Given the description of an element on the screen output the (x, y) to click on. 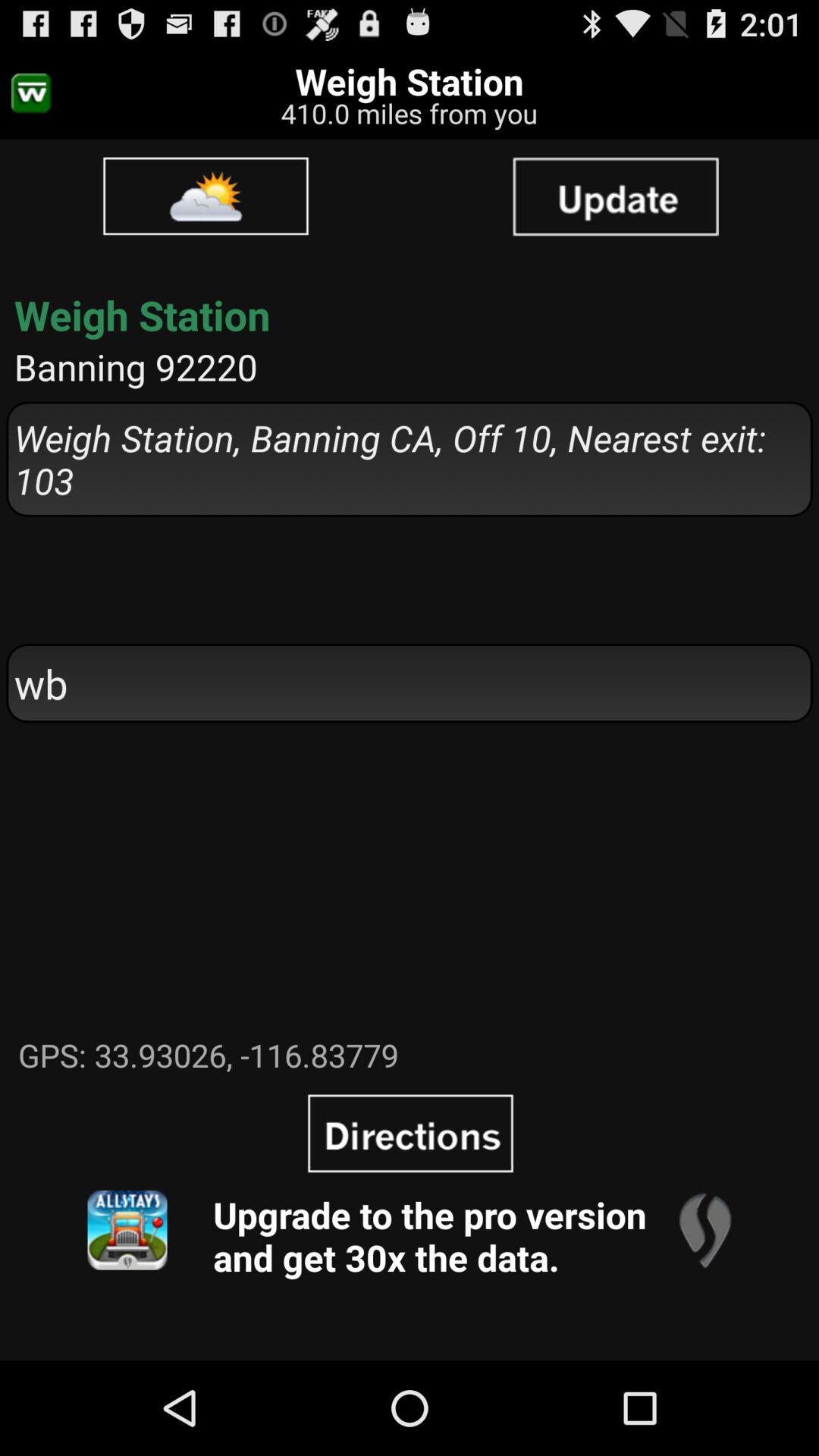
select item below 410 0 miles app (614, 196)
